Given the description of an element on the screen output the (x, y) to click on. 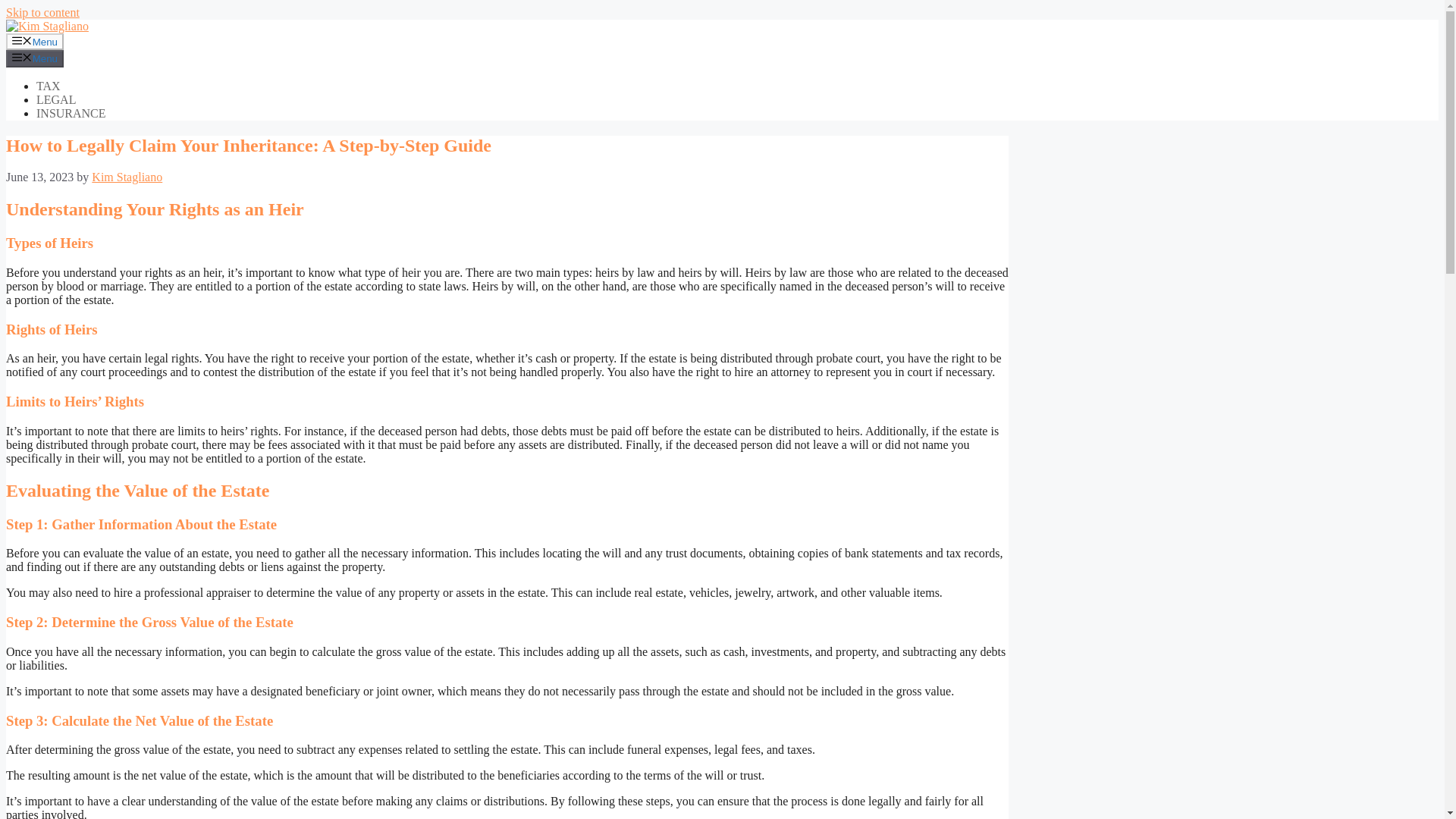
TAX (48, 85)
Menu (34, 57)
Skip to content (42, 11)
INSURANCE (71, 113)
LEGAL (55, 99)
Kim Stagliano (126, 176)
View all posts by Kim Stagliano (126, 176)
Skip to content (42, 11)
Menu (34, 41)
